Given the description of an element on the screen output the (x, y) to click on. 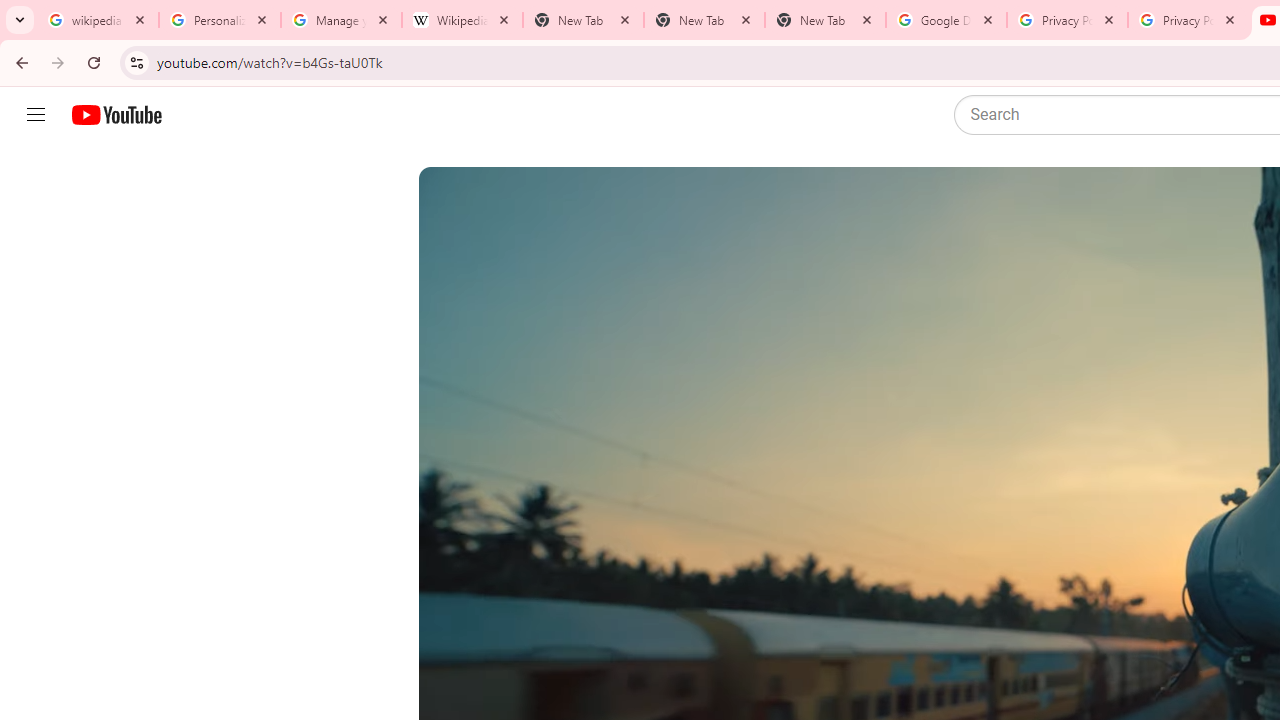
Manage your Location History - Google Search Help (340, 20)
Wikipedia:Edit requests - Wikipedia (462, 20)
Guide (35, 115)
New Tab (825, 20)
Google Drive: Sign-in (946, 20)
Personalization & Google Search results - Google Search Help (219, 20)
